Given the description of an element on the screen output the (x, y) to click on. 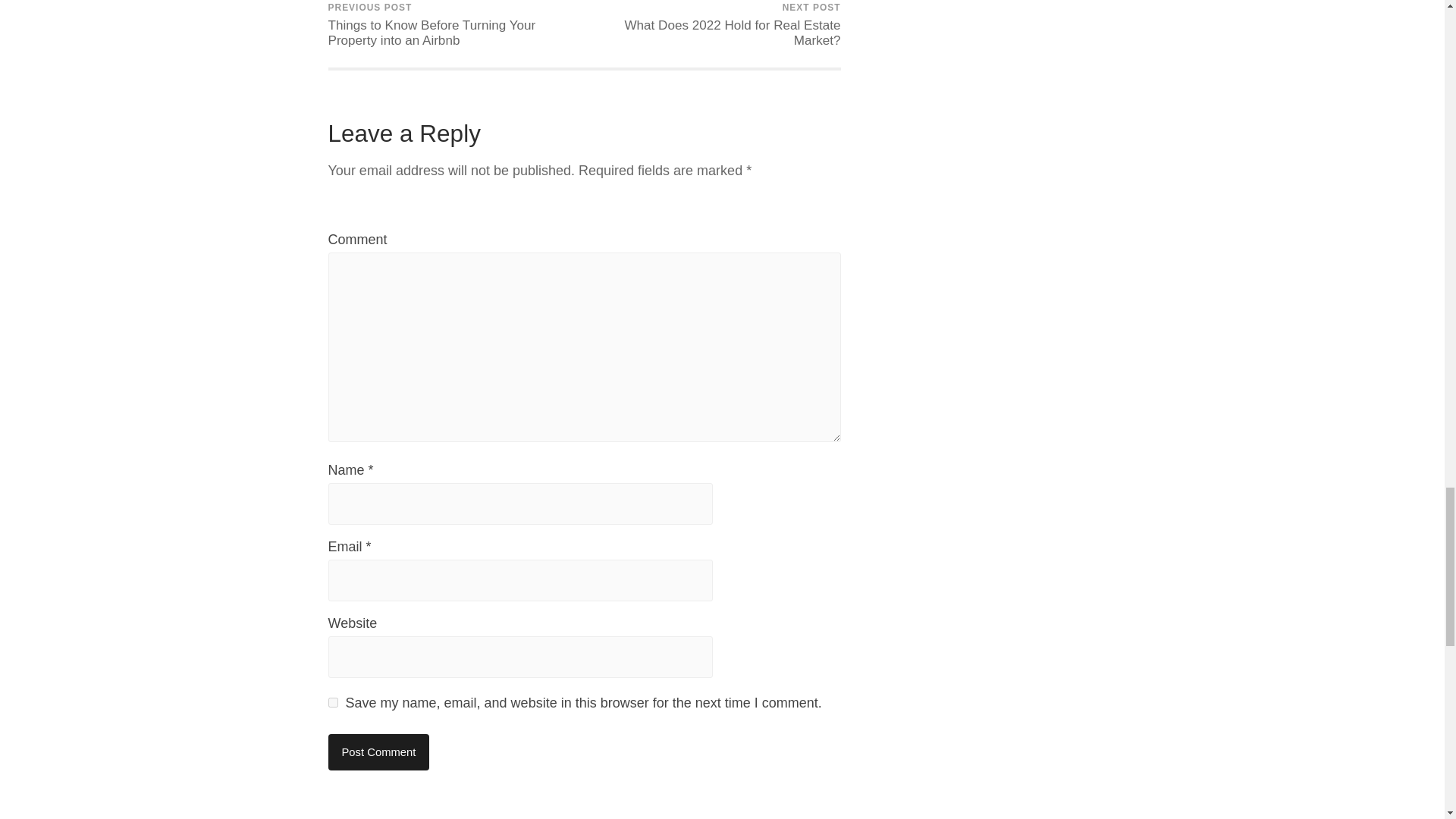
yes (332, 702)
Post Comment (714, 33)
Post Comment (378, 751)
